Given the description of an element on the screen output the (x, y) to click on. 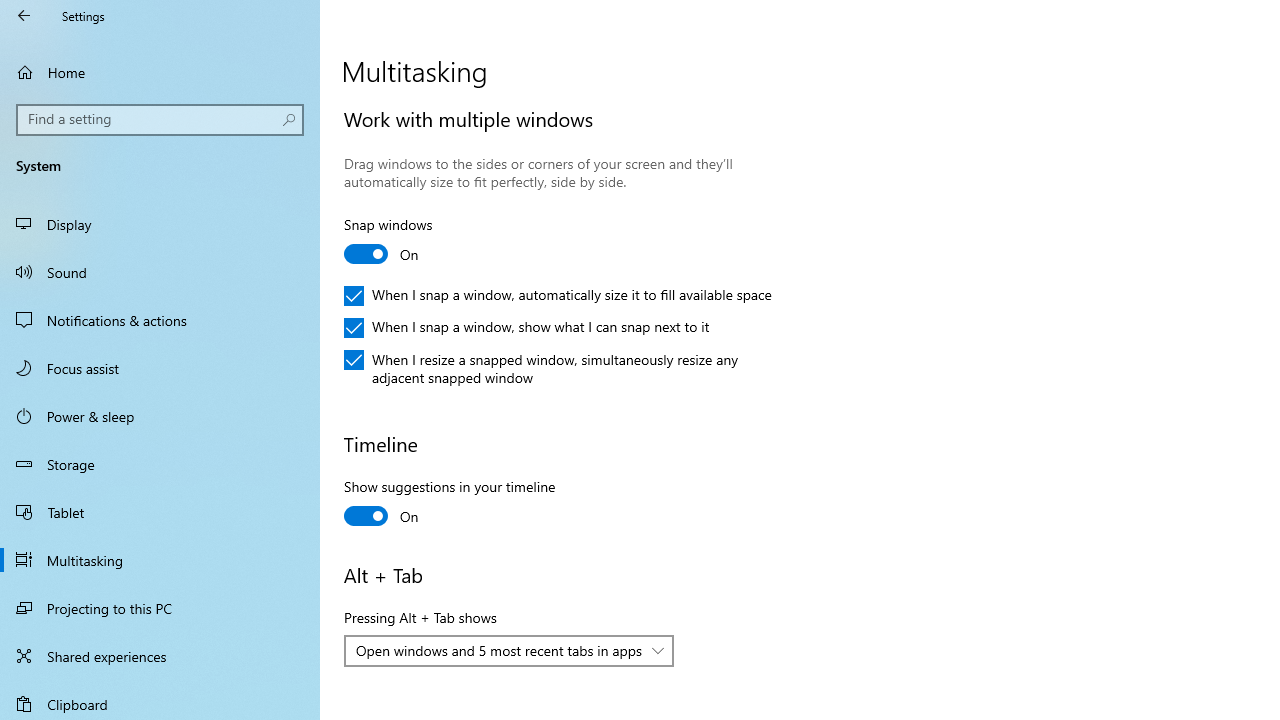
Tablet (160, 511)
Storage (160, 463)
When I snap a window, show what I can snap next to it (527, 327)
Focus assist (160, 367)
